Given the description of an element on the screen output the (x, y) to click on. 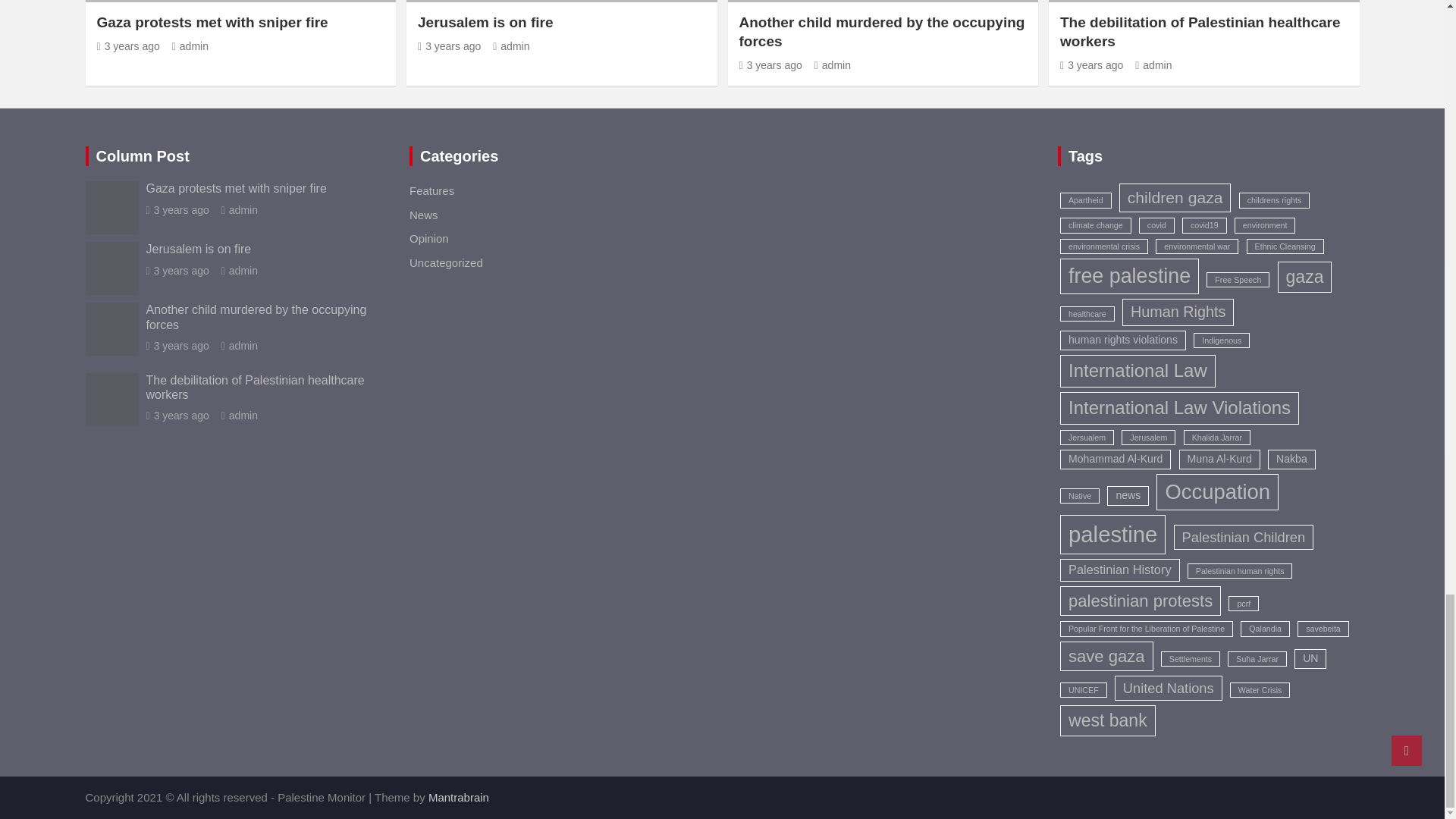
Mantrabrain (458, 797)
Jerusalem is on fire (448, 46)
Another child murdered by the occupying forces (176, 345)
The debilitation of Palestinian healthcare workers (176, 415)
Jerusalem is on fire (176, 270)
Gaza protests met with sniper fire (128, 46)
Another child murdered by the occupying forces (770, 64)
Gaza protests met with sniper fire (176, 209)
The debilitation of Palestinian healthcare workers (1090, 64)
